Given the description of an element on the screen output the (x, y) to click on. 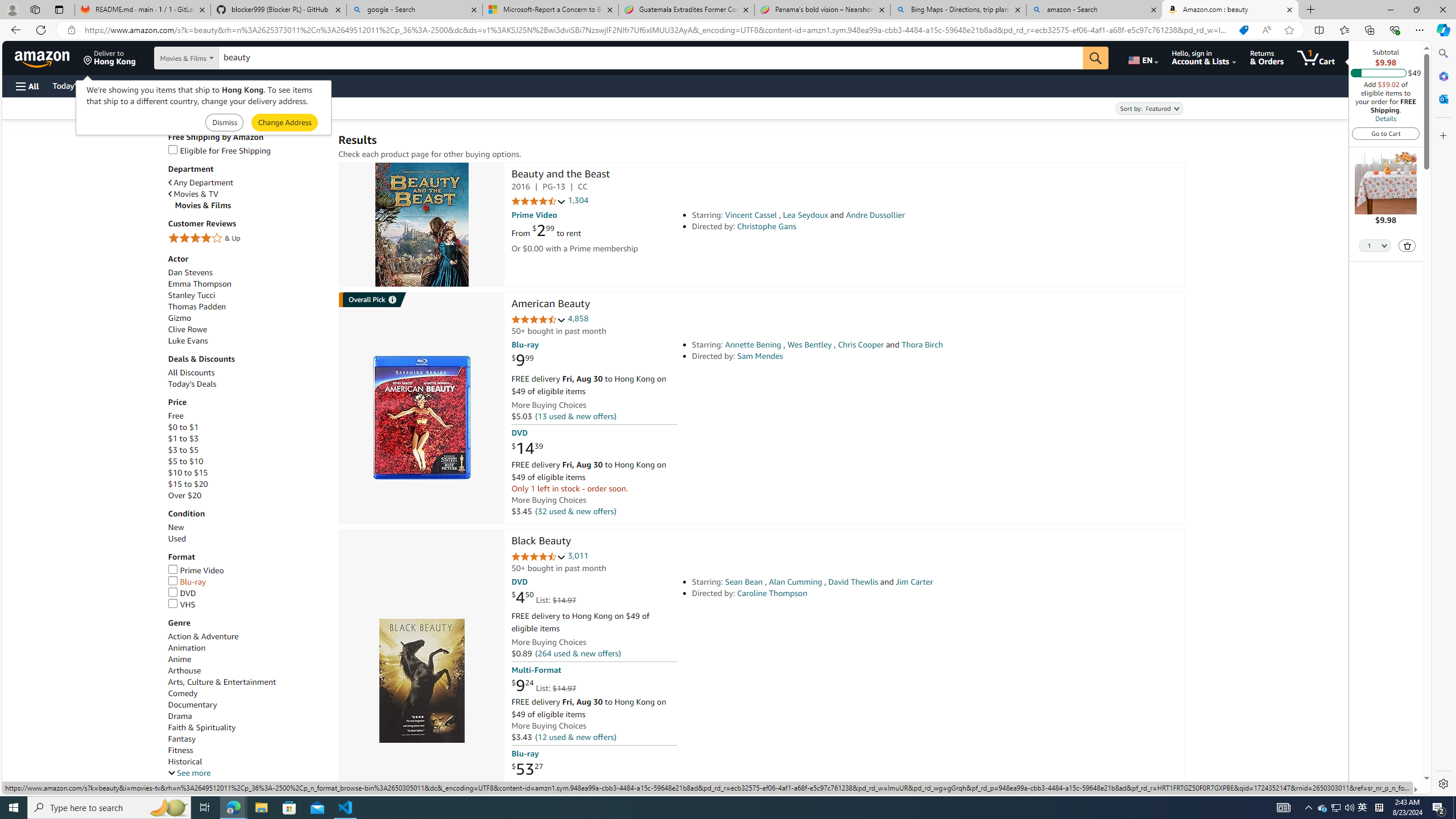
Eligible for Free Shipping (247, 150)
Returns & Orders (1266, 57)
Delete (1407, 245)
Quantity Selector (1374, 245)
$15 to $20 (247, 483)
$0 to $1 (247, 427)
(13 used & new offers) (574, 416)
Alan Cumming (795, 581)
$1 to $3 (247, 438)
VHS (247, 604)
